Given the description of an element on the screen output the (x, y) to click on. 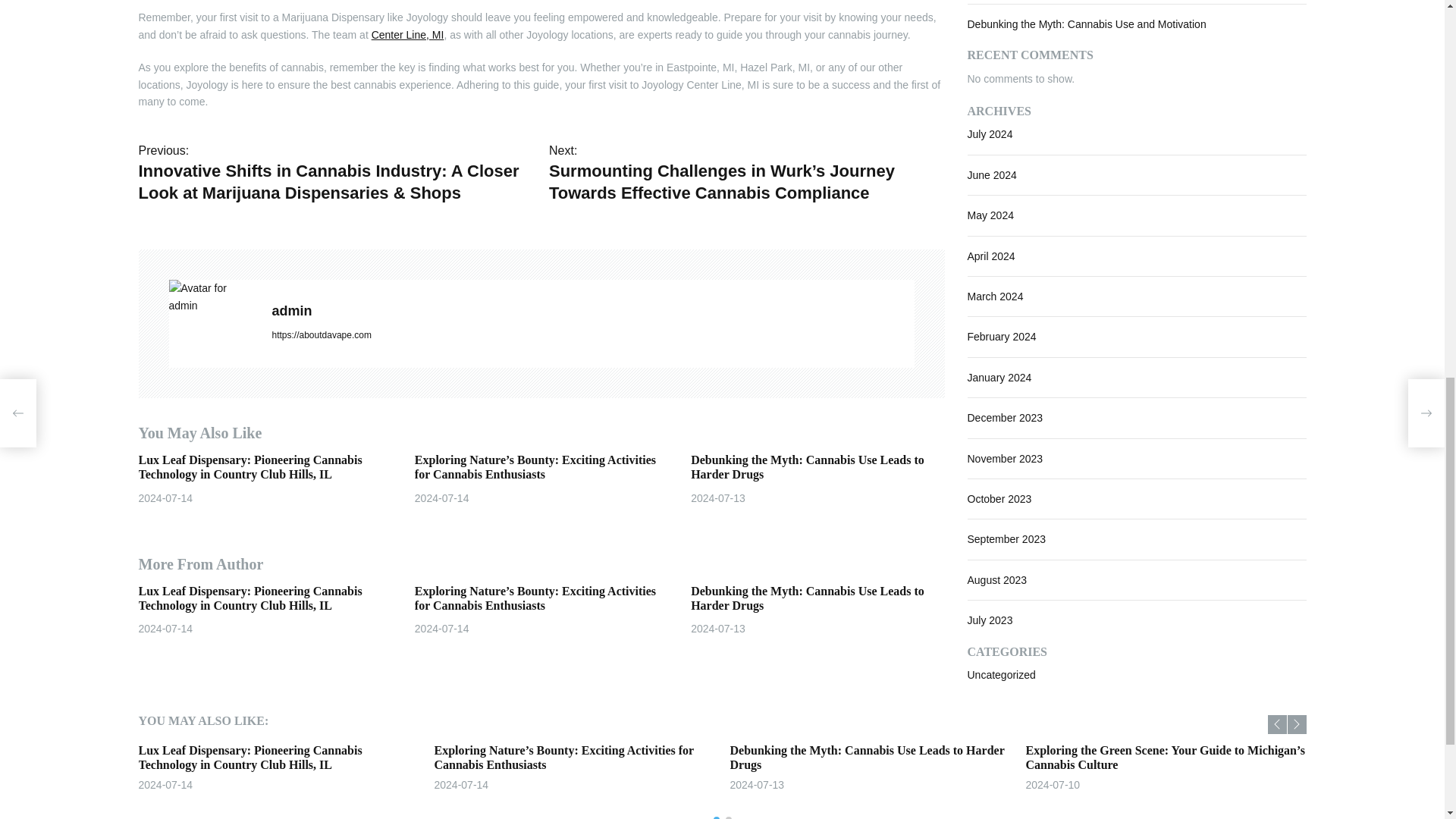
admin (212, 296)
admin (592, 311)
admin (592, 311)
Center Line, MI (407, 34)
